Given the description of an element on the screen output the (x, y) to click on. 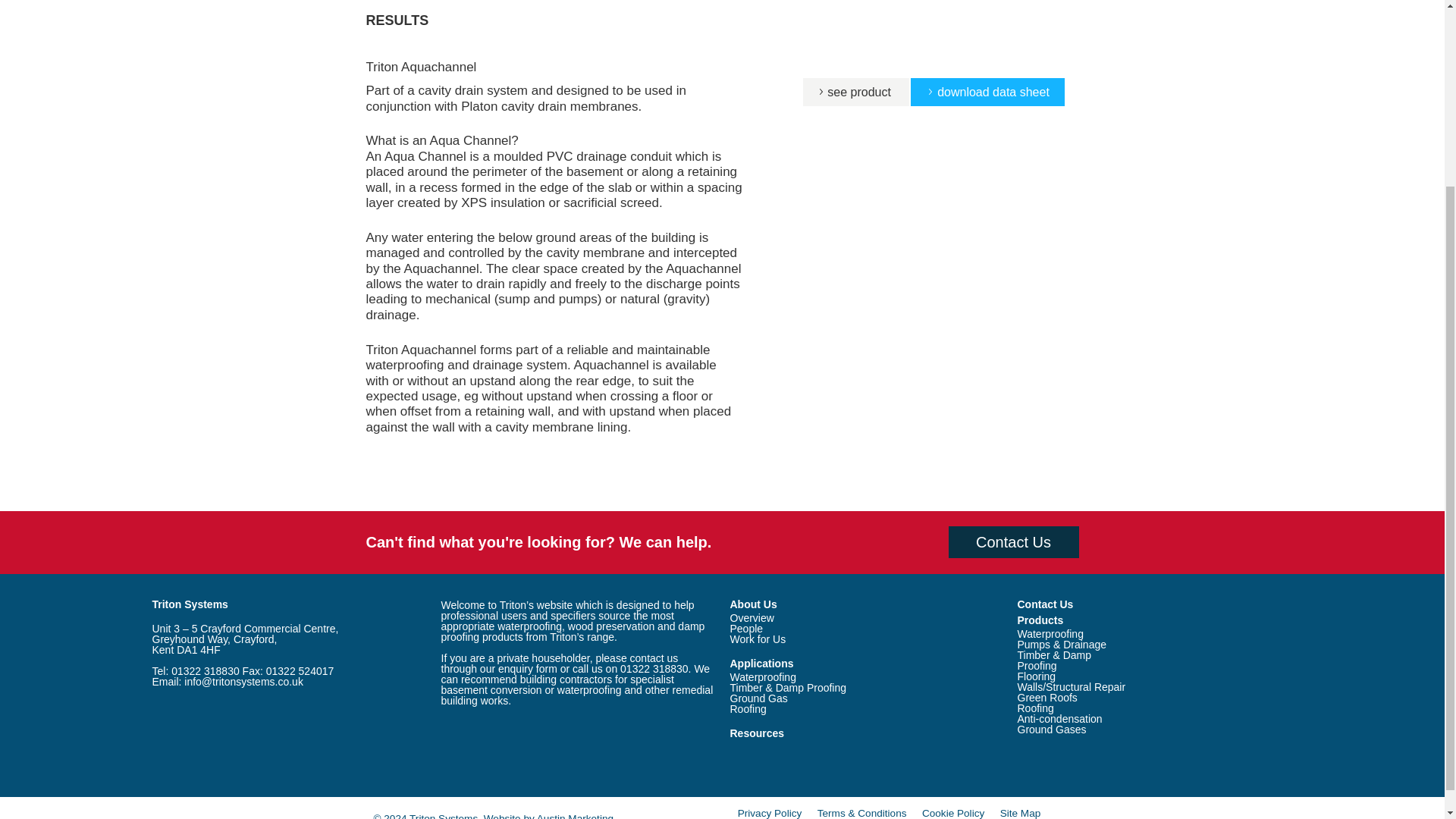
Triton Aquachannel (852, 91)
Triton Aquachannel (987, 91)
Triton Aquachannel (420, 66)
